Given the description of an element on the screen output the (x, y) to click on. 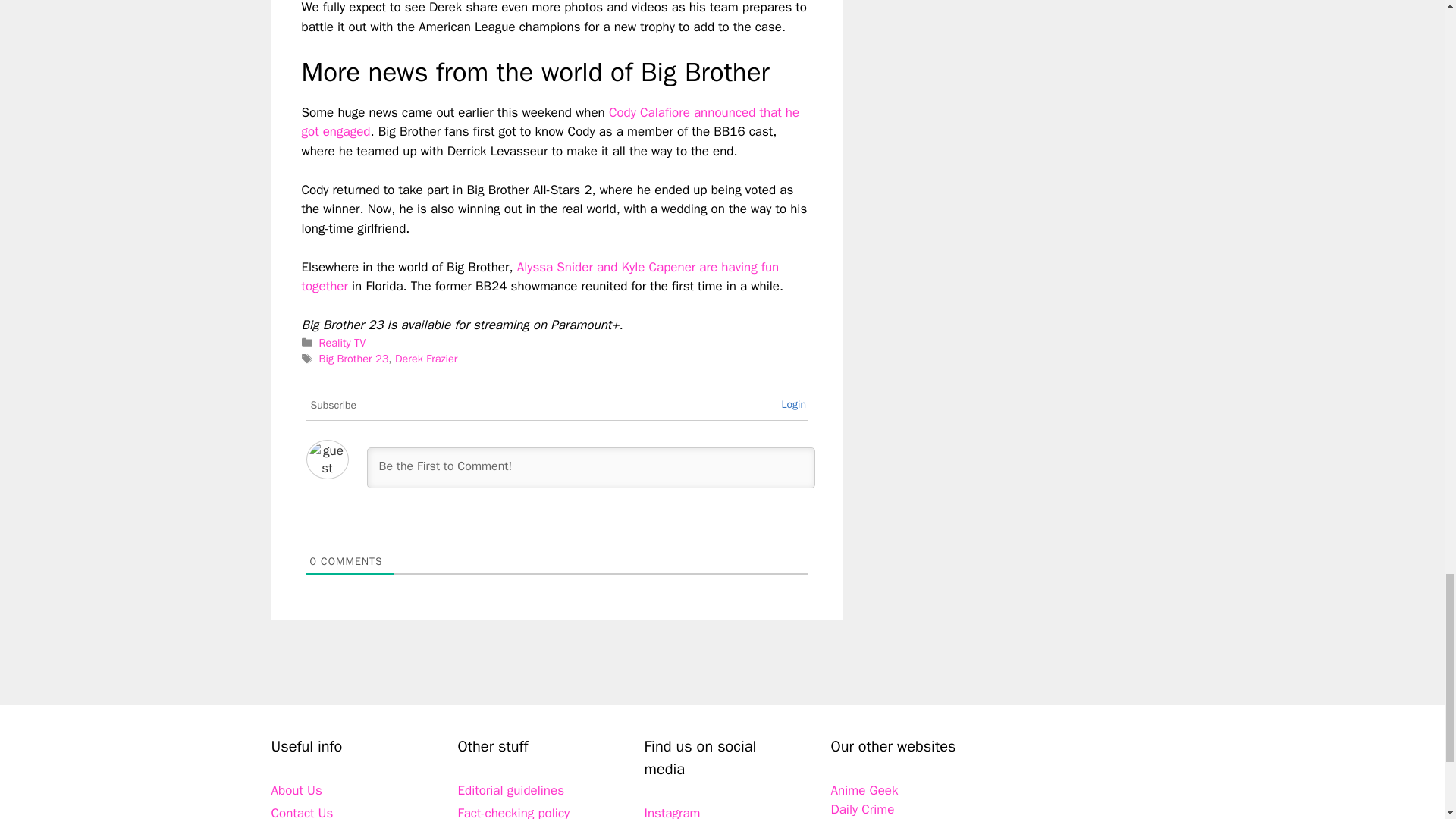
Login (793, 404)
Derek Frazier (425, 358)
Big Brother 23 (353, 358)
Fact-checking policy (514, 812)
Contact Us (301, 812)
Cody Calafiore announced that he got engaged (550, 122)
About Us (295, 790)
Editorial guidelines (511, 790)
Reality TV (342, 342)
Alyssa Snider and Kyle Capener are having fun together (539, 276)
